Given the description of an element on the screen output the (x, y) to click on. 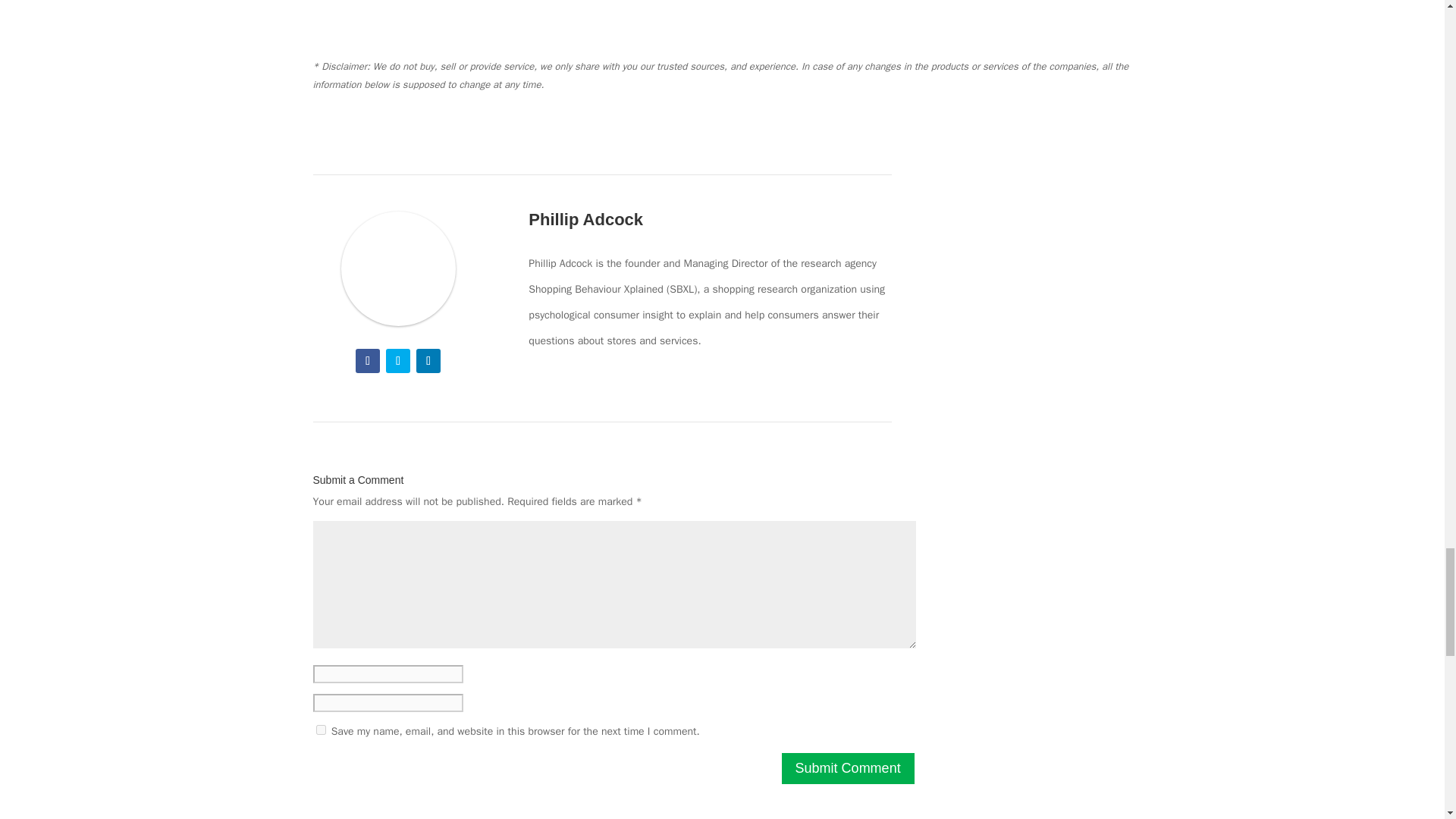
yes (319, 729)
Follow on LinkedIn (428, 360)
Follow on Facebook (367, 360)
Follow on Twitter (397, 360)
Phillip Adcock (397, 268)
